Given the description of an element on the screen output the (x, y) to click on. 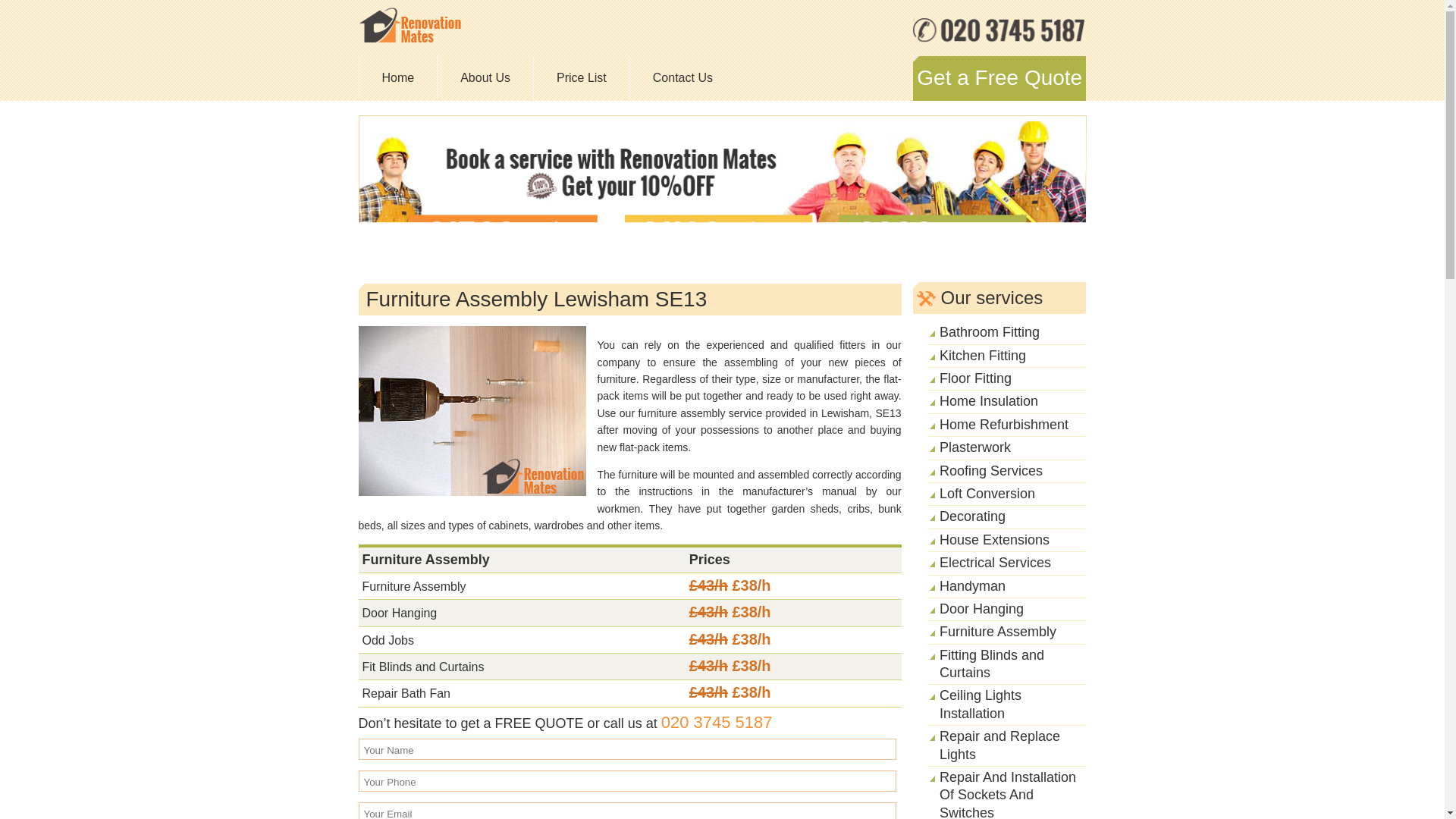
Get a Free Quote (999, 77)
Contact Us (681, 77)
Kitchen Fitting (982, 355)
Door Hanging (981, 608)
Home Refurbishment (1003, 424)
Floor Fitting (975, 378)
Decorating (972, 516)
Home Insulation (988, 400)
Price List (580, 77)
Loft Conversion (987, 493)
Roofing Services (990, 470)
Electrical Services (995, 562)
House Extensions (994, 539)
About Us (484, 77)
Bathroom Fitting (989, 331)
